Given the description of an element on the screen output the (x, y) to click on. 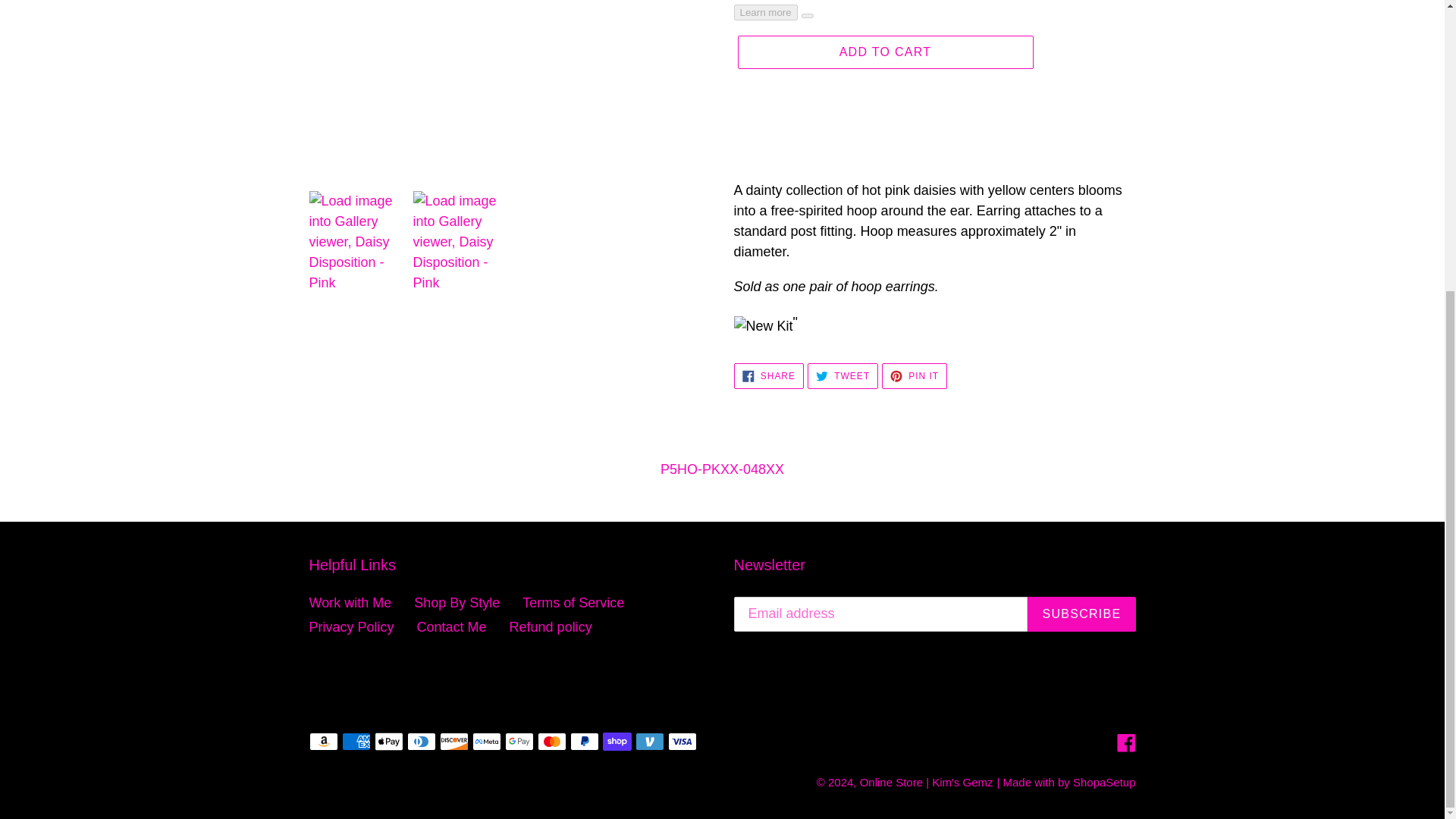
Paparazzi Shopify Stores by ShopaSetup (1104, 781)
